Given the description of an element on the screen output the (x, y) to click on. 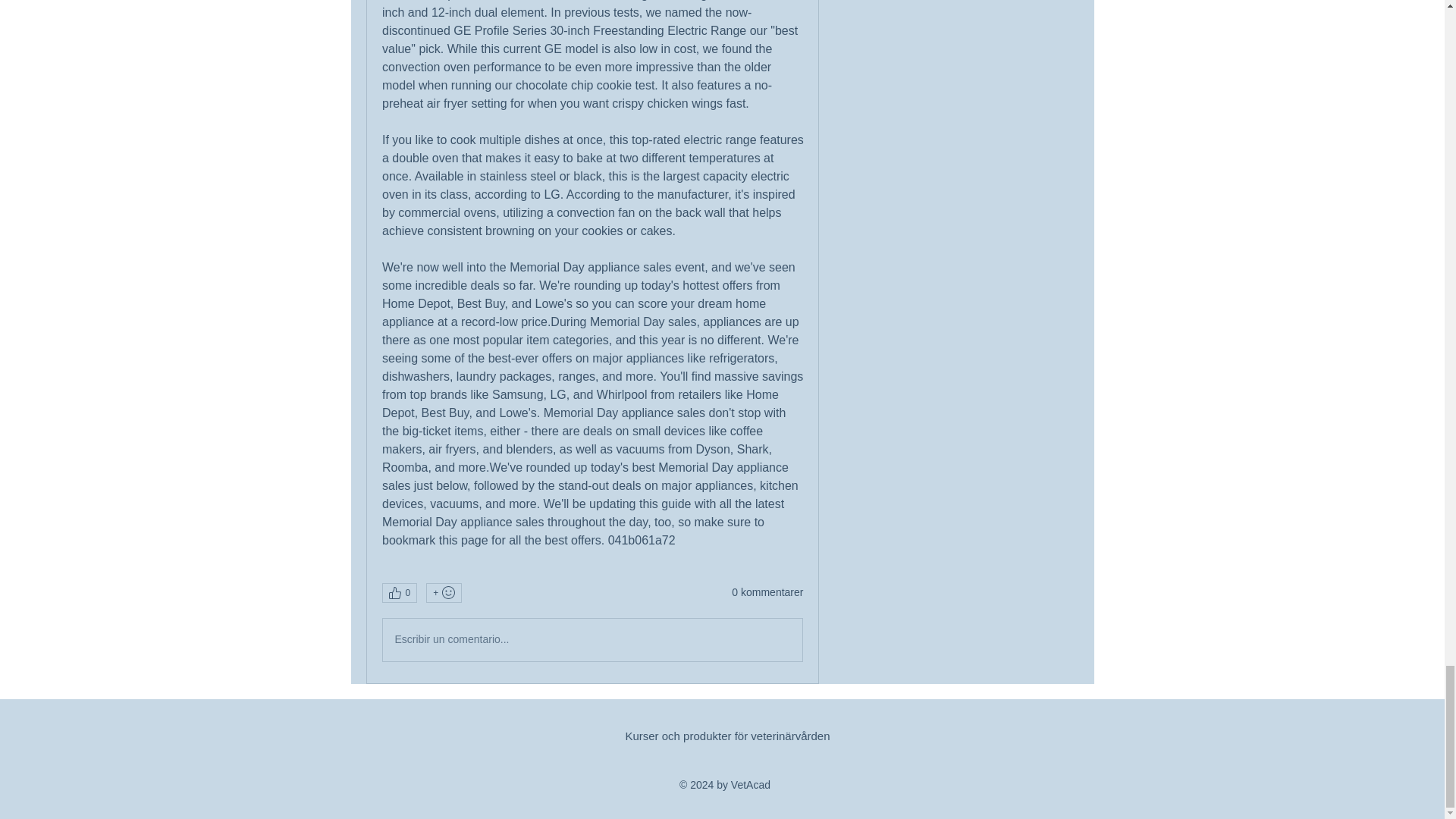
Escribir un comentario... (591, 639)
0 kommentarer (767, 592)
